Given the description of an element on the screen output the (x, y) to click on. 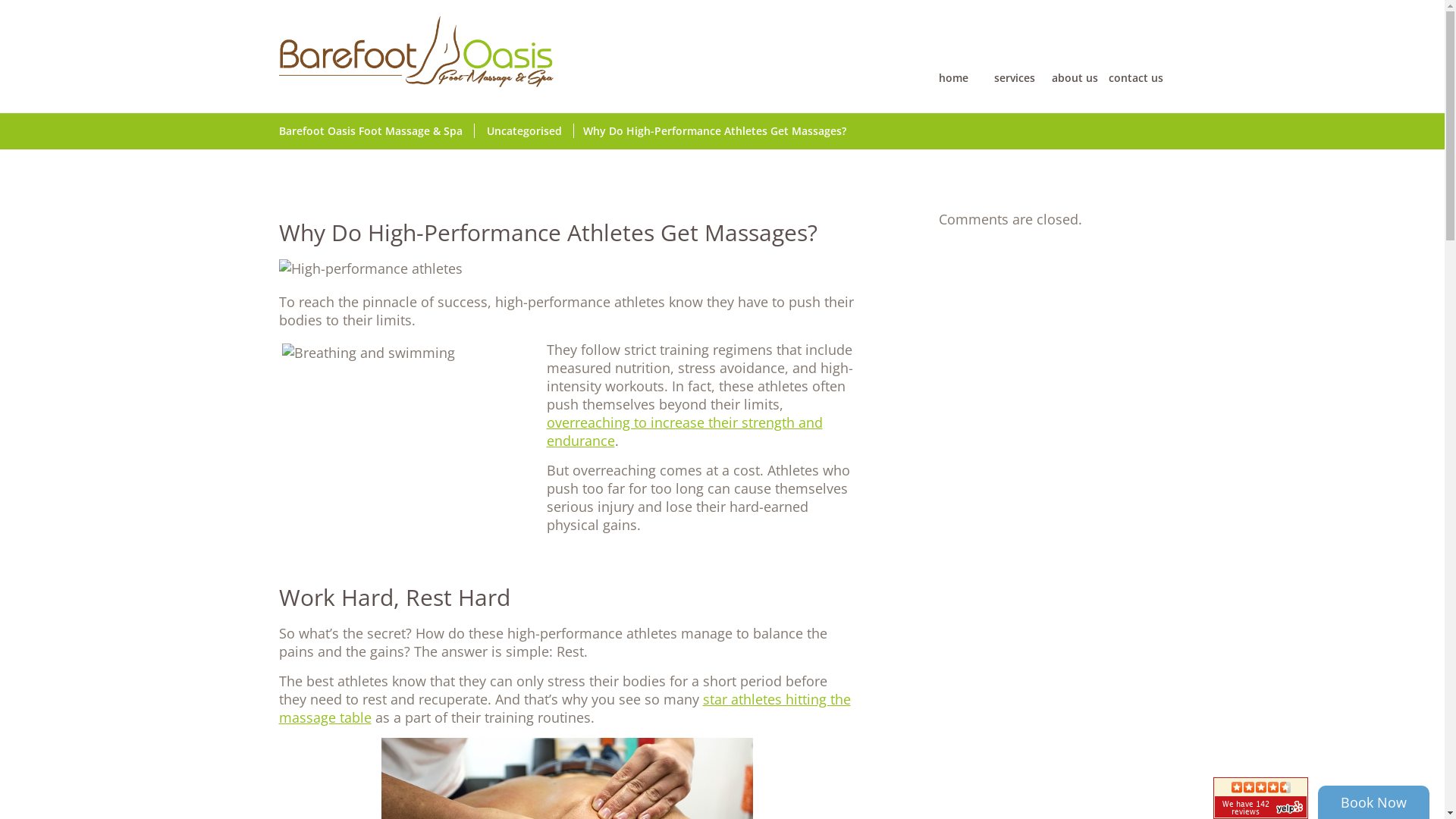
home Element type: text (953, 55)
Uncategorised Element type: text (530, 130)
contact us Element type: text (1135, 55)
overreaching to increase their strength and endurance Element type: text (684, 431)
Barefoot Oasis Foot Massage & Spa Element type: text (376, 130)
about us Element type: text (1074, 55)
services Element type: text (1013, 55)
star athletes hitting the massage table Element type: text (564, 708)
